Given the description of an element on the screen output the (x, y) to click on. 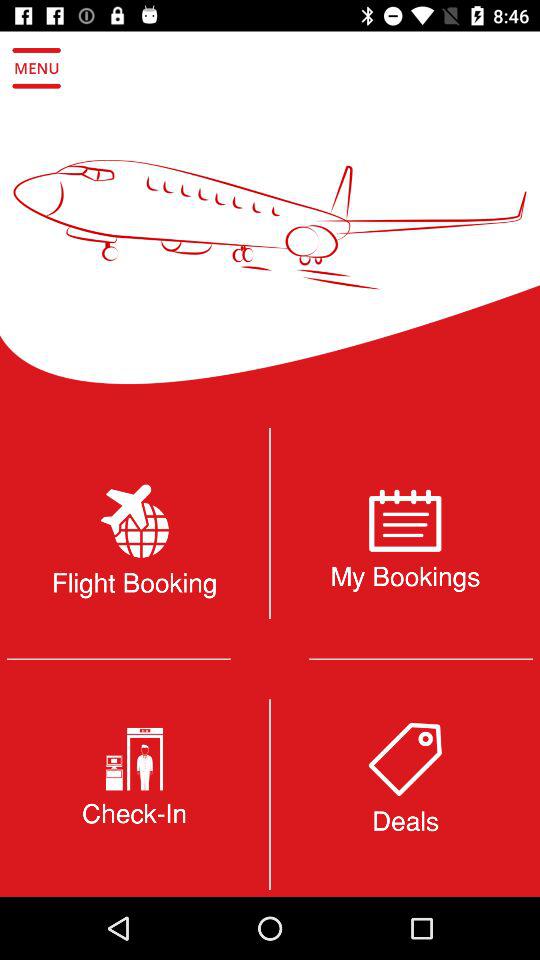
menu button (36, 68)
